Given the description of an element on the screen output the (x, y) to click on. 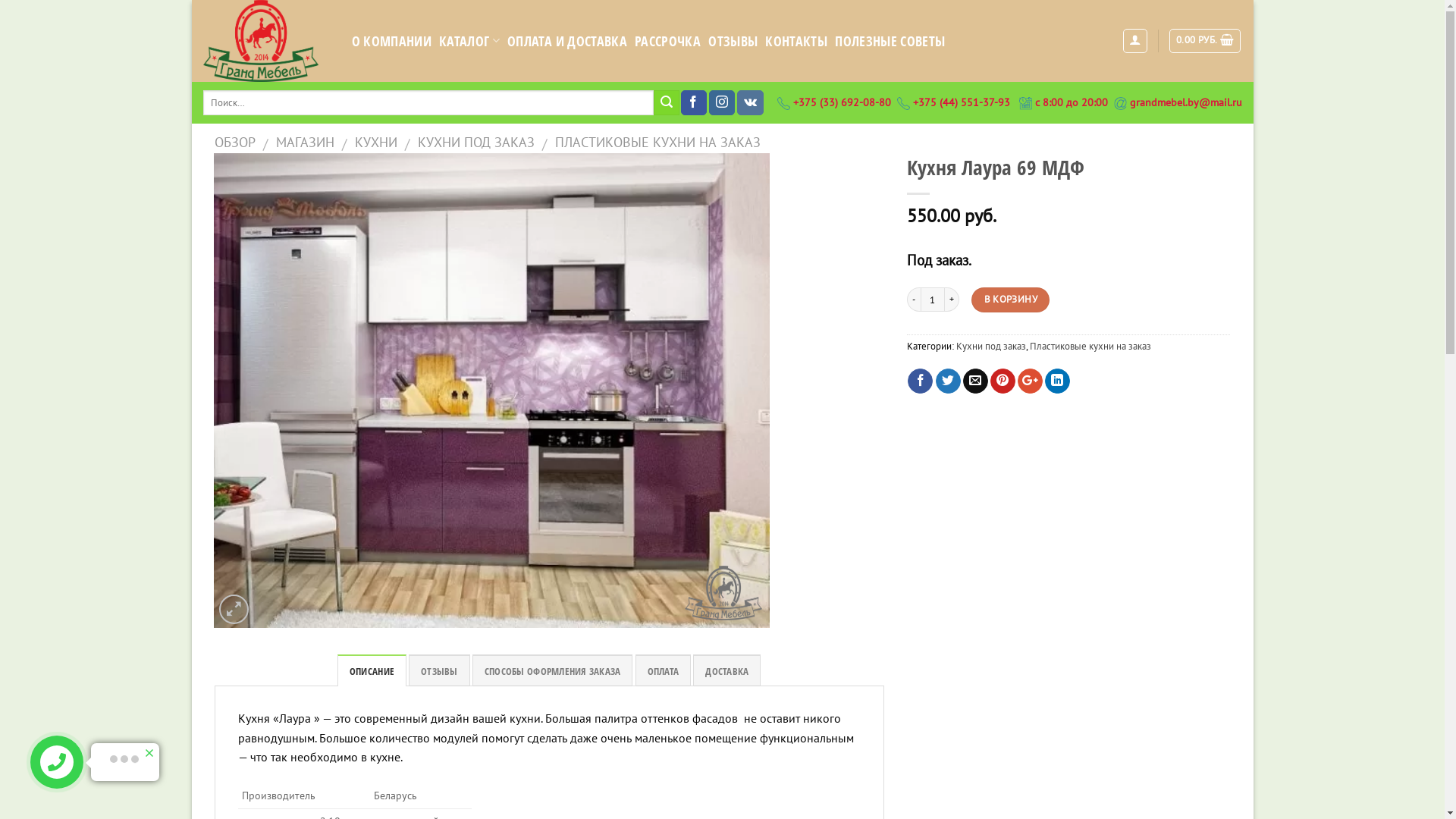
Laura-67.jpg Element type: hover (491, 390)
Qty Element type: hover (932, 299)
grandmebel.by@mail.ru Element type: text (1185, 102)
+375 (44) 551-37-93 Element type: text (961, 102)
+375 (33) 692-08-80 Element type: text (842, 102)
